Given the description of an element on the screen output the (x, y) to click on. 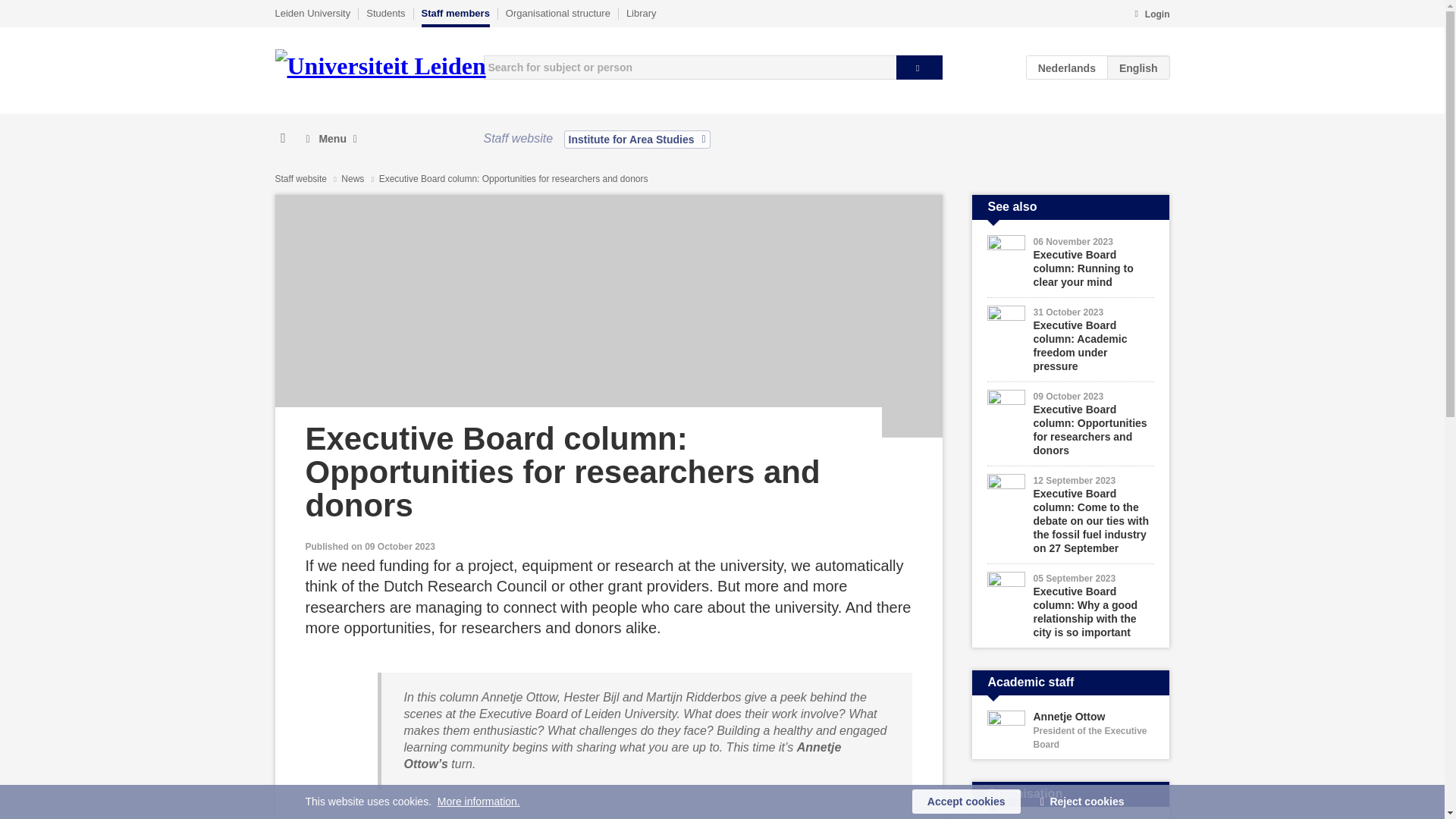
News (353, 178)
Institute for Area Studies (637, 139)
Search (919, 67)
Organisational structure (557, 13)
Staff members (455, 17)
Leiden University (312, 13)
Students (385, 13)
Menu (330, 139)
Staff website (300, 178)
Login (1151, 14)
